Given the description of an element on the screen output the (x, y) to click on. 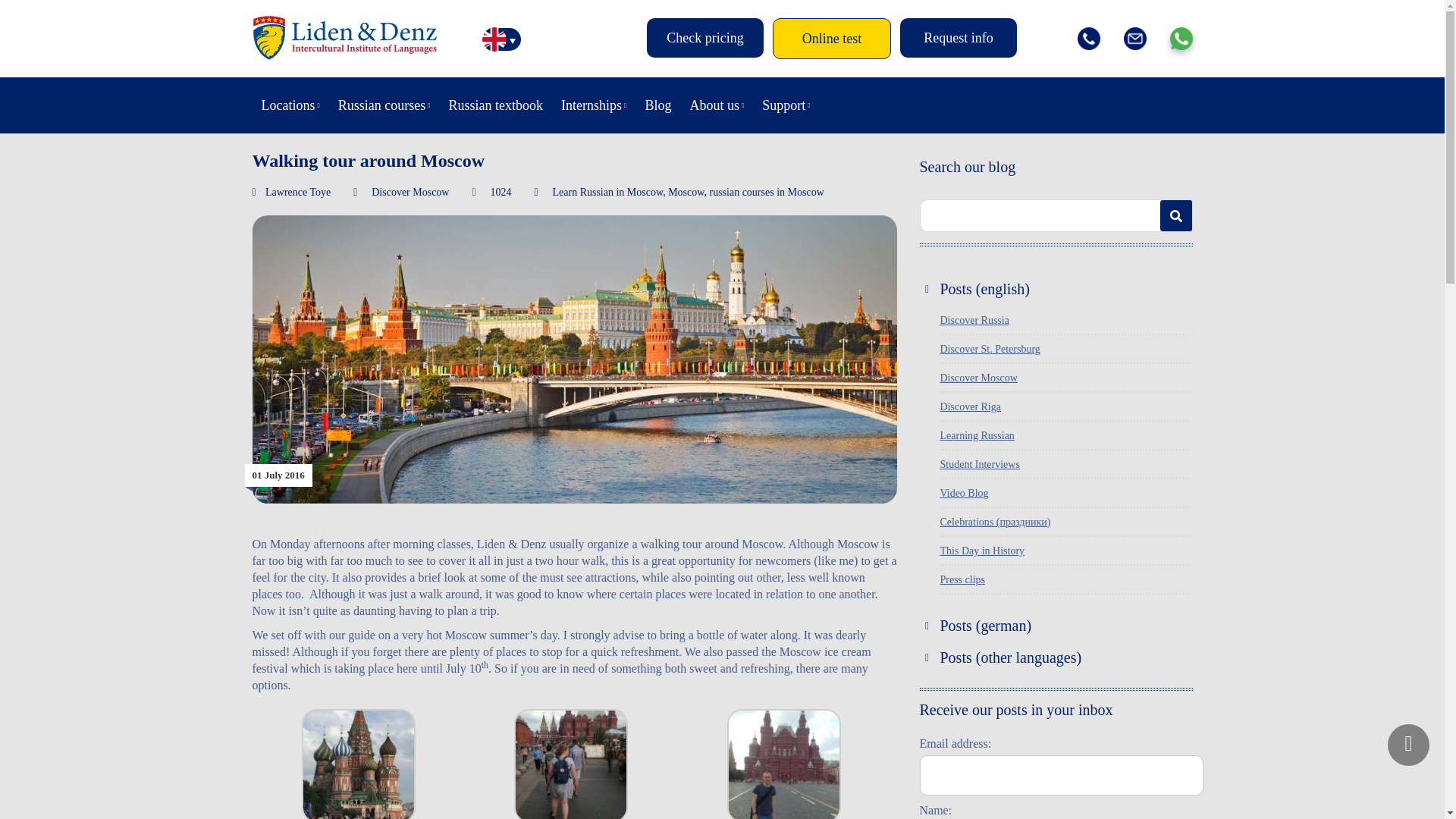
Online test (832, 38)
Locations (290, 104)
Search (1176, 215)
Request info (957, 37)
Check pricing (704, 37)
Russian courses (384, 104)
